Given the description of an element on the screen output the (x, y) to click on. 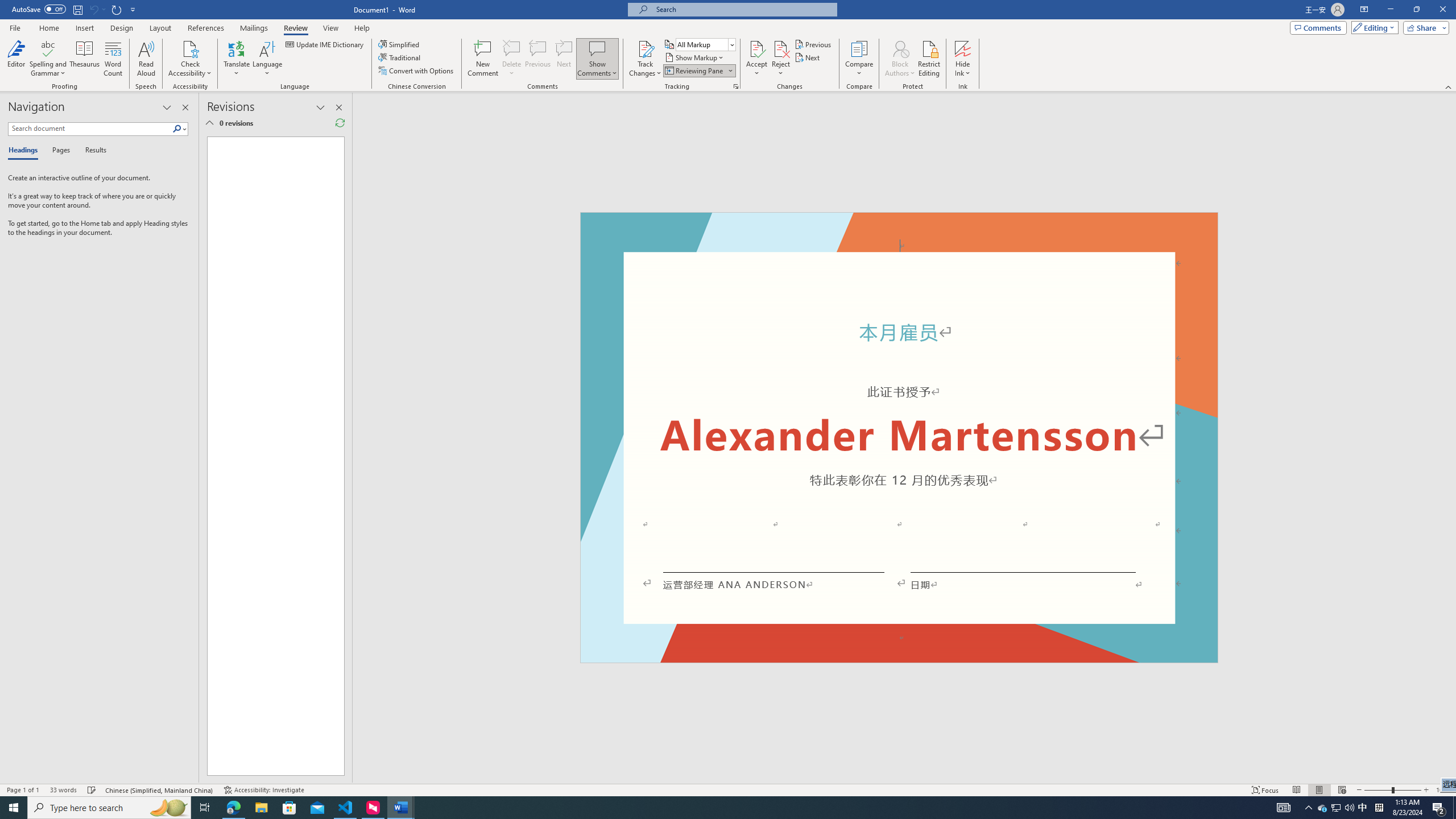
Mode (1372, 27)
Open (731, 44)
Simplified (400, 44)
Header -Section 1- (898, 225)
Accessibility Checker Accessibility: Investigate (263, 790)
Word Count (113, 58)
Task Pane Options (167, 107)
Class: NetUIScrollBar (1450, 437)
Refresh Reviewing Pane (339, 122)
Headings (25, 150)
